Given the description of an element on the screen output the (x, y) to click on. 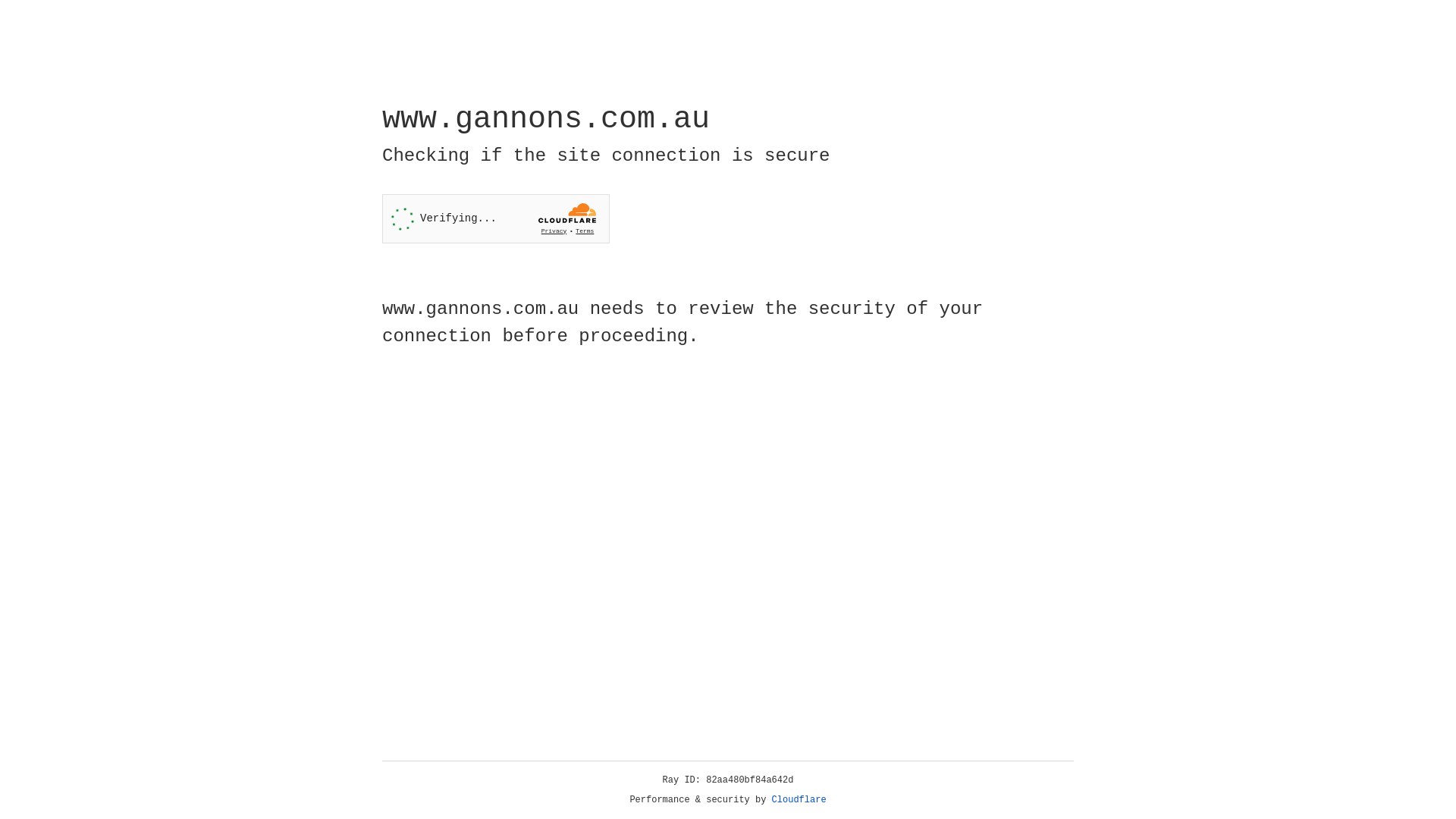
Cloudflare Element type: text (798, 799)
Widget containing a Cloudflare security challenge Element type: hover (495, 218)
